Given the description of an element on the screen output the (x, y) to click on. 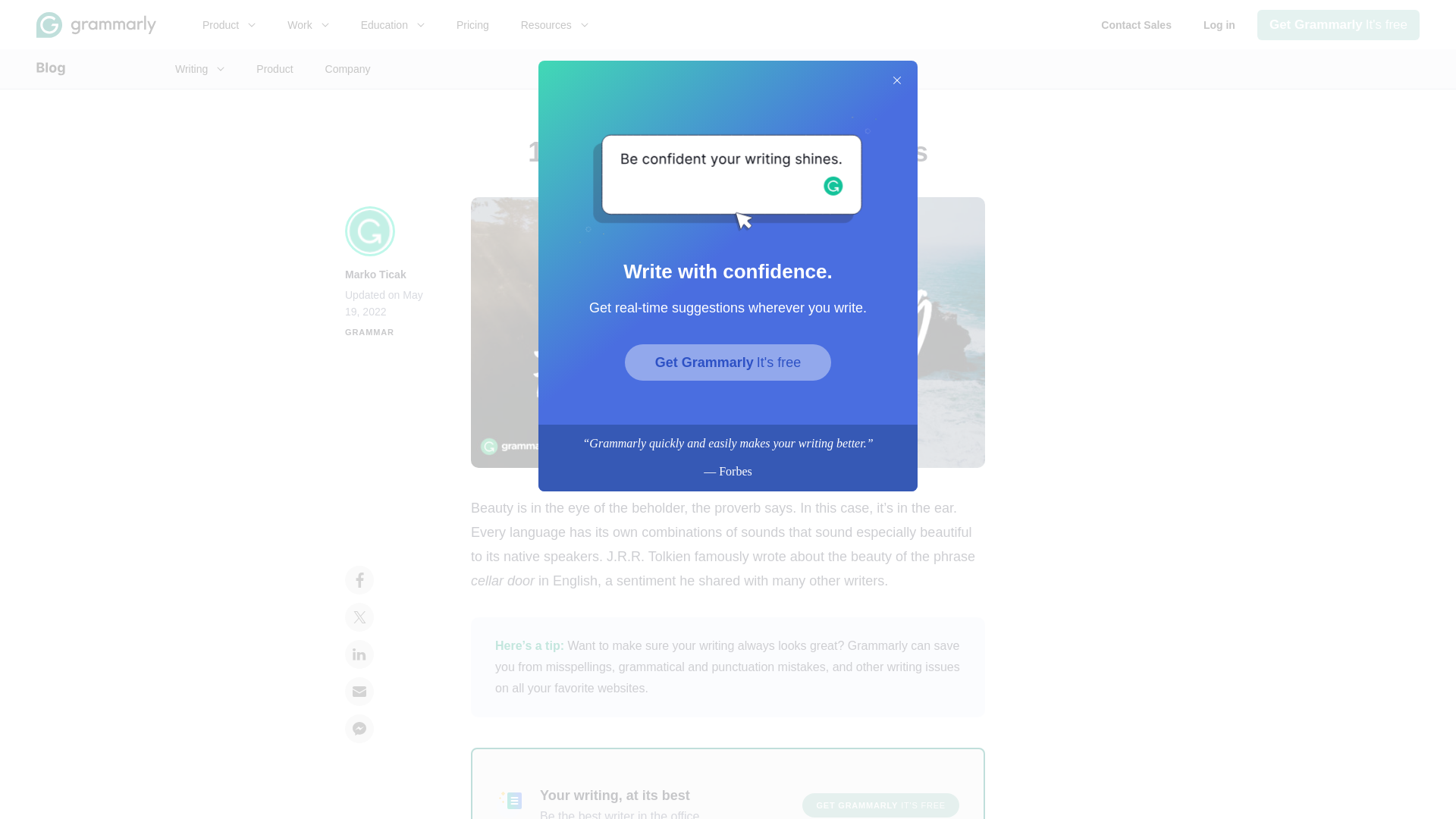
Work (307, 24)
Education (391, 24)
Product (1338, 24)
Log in (228, 24)
Contact Sales (1218, 24)
Pricing (1135, 24)
Resources (472, 24)
